Given the description of an element on the screen output the (x, y) to click on. 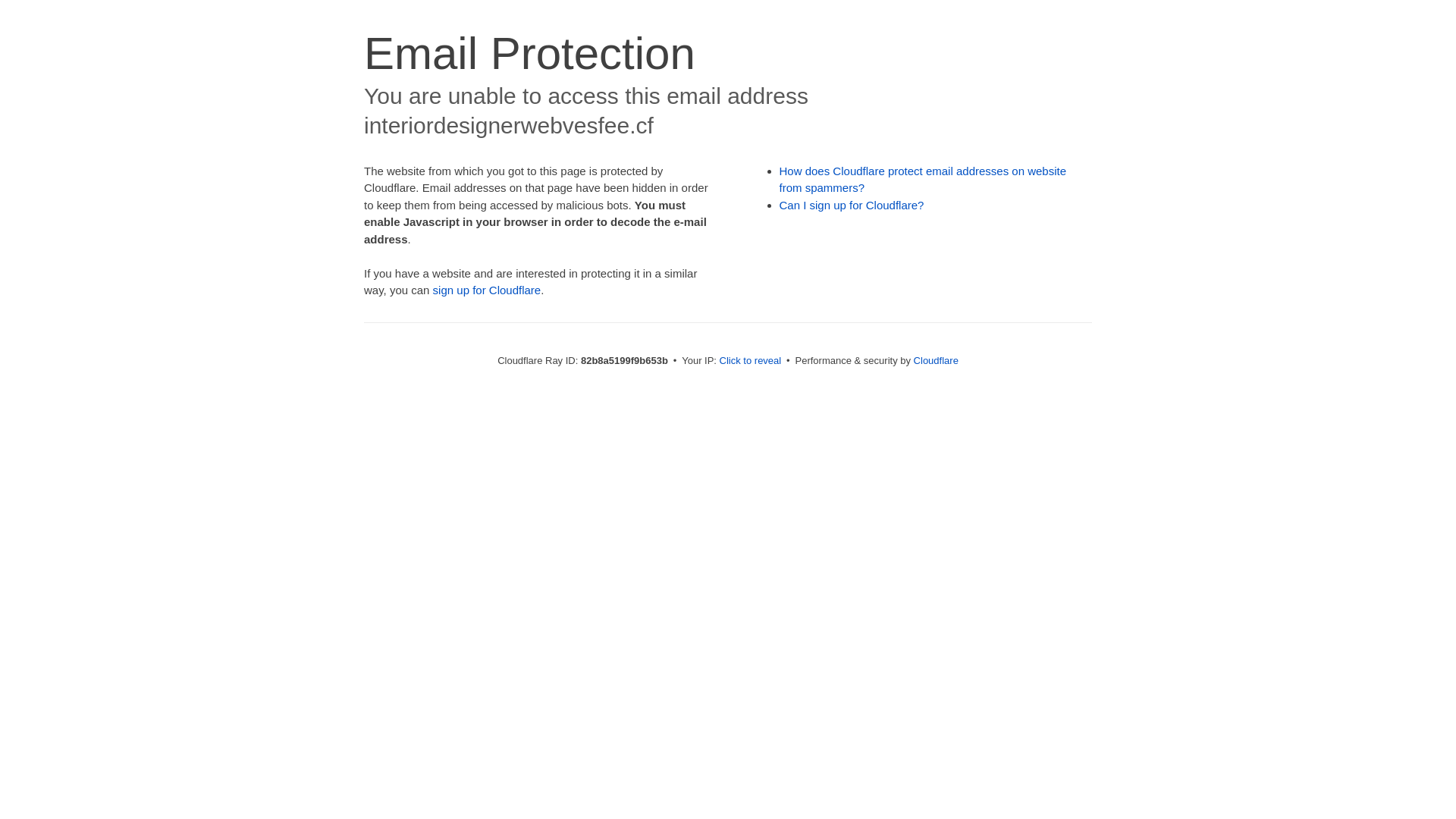
Cloudflare Element type: text (935, 360)
sign up for Cloudflare Element type: text (487, 289)
Can I sign up for Cloudflare? Element type: text (851, 204)
Click to reveal Element type: text (750, 360)
